Given the description of an element on the screen output the (x, y) to click on. 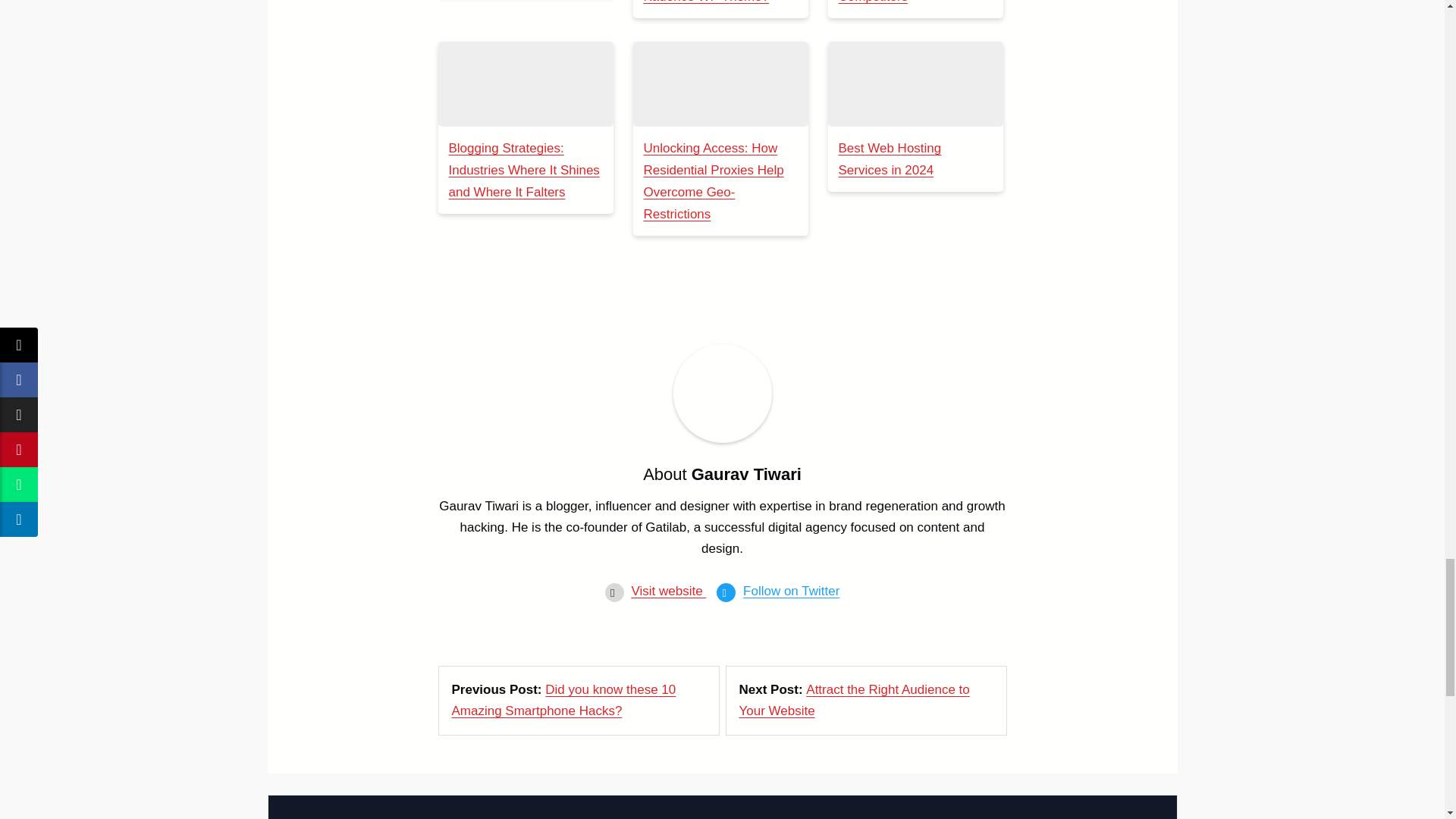
Follow on Twitter (791, 590)
7 Best Kadence Theme Alternatives and Competitors (905, 2)
Visit website (668, 590)
Best Web Hosting Services in 2024 (890, 158)
Attract the Right Audience to Your Website (853, 700)
Did you know these 10 Amazing Smartphone Hacks? (564, 700)
